Given the description of an element on the screen output the (x, y) to click on. 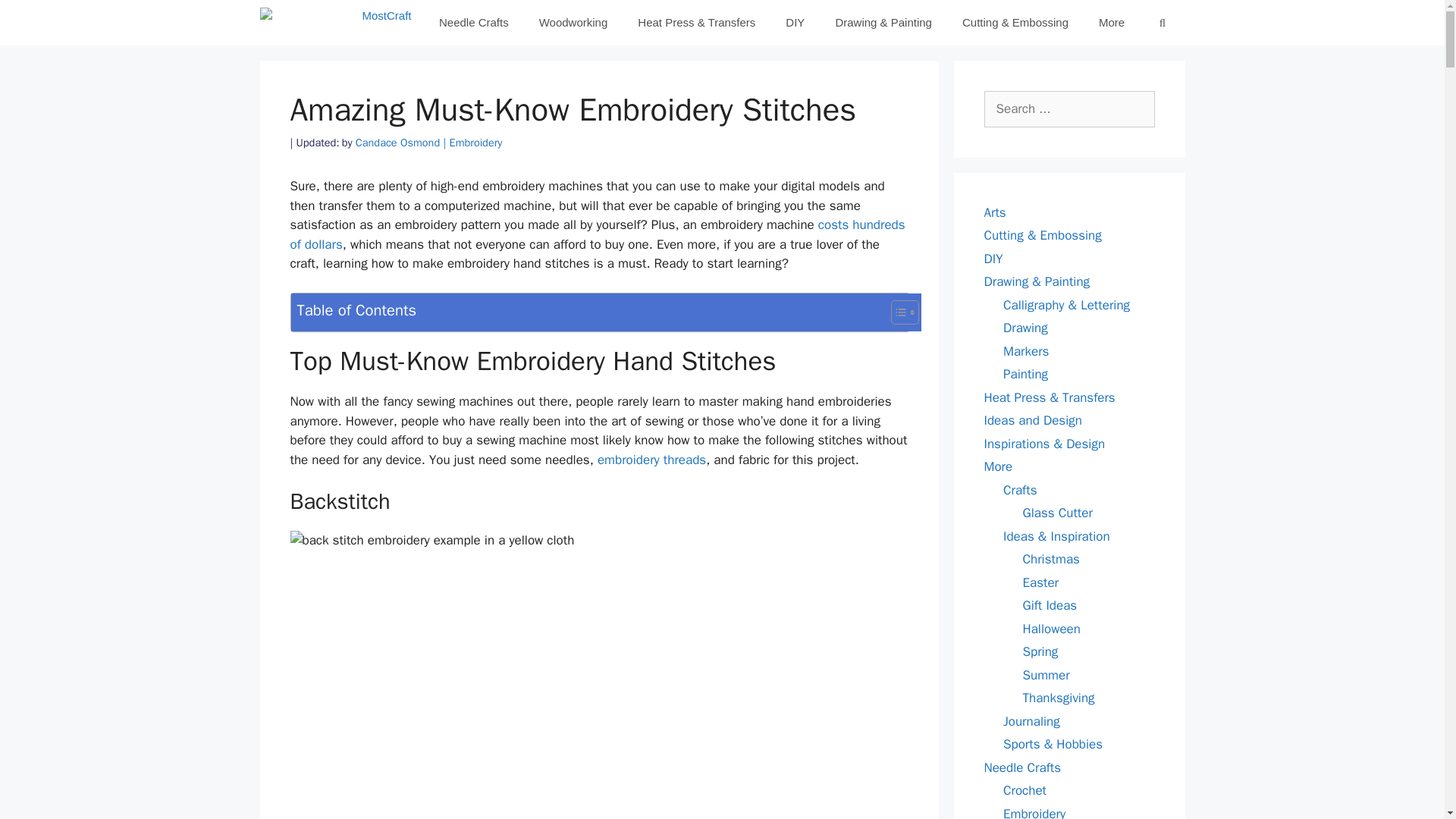
View all posts by Candace Osmond (402, 142)
More (1111, 22)
embroidery threads (651, 459)
costs hundreds of dollars (596, 234)
Needle Crafts (473, 22)
MostCraft (334, 22)
Woodworking (573, 22)
DIY (794, 22)
Embroidery (475, 142)
MostCraft (339, 22)
